Given the description of an element on the screen output the (x, y) to click on. 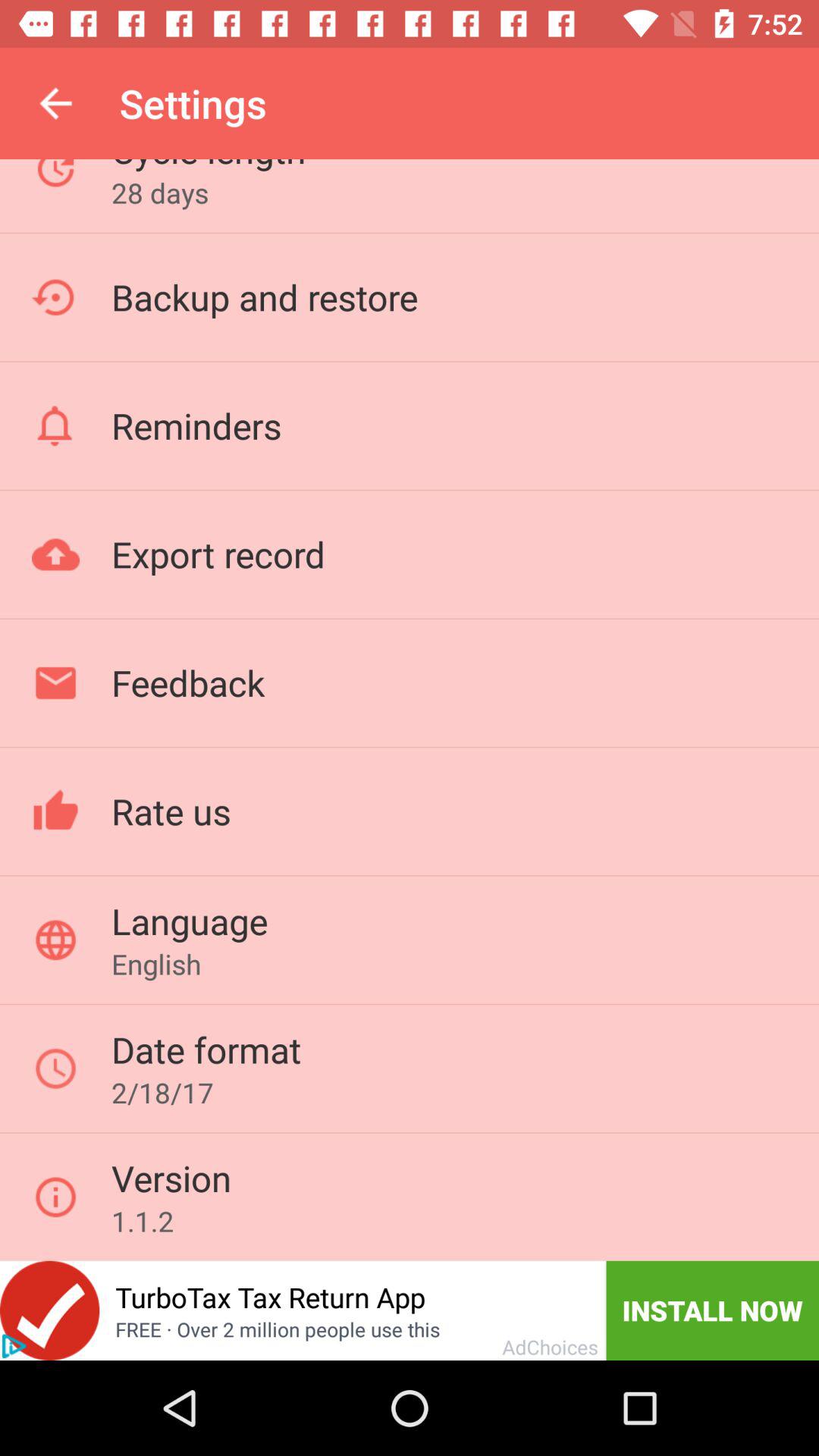
flip to the turbotax tax return item (270, 1297)
